Given the description of an element on the screen output the (x, y) to click on. 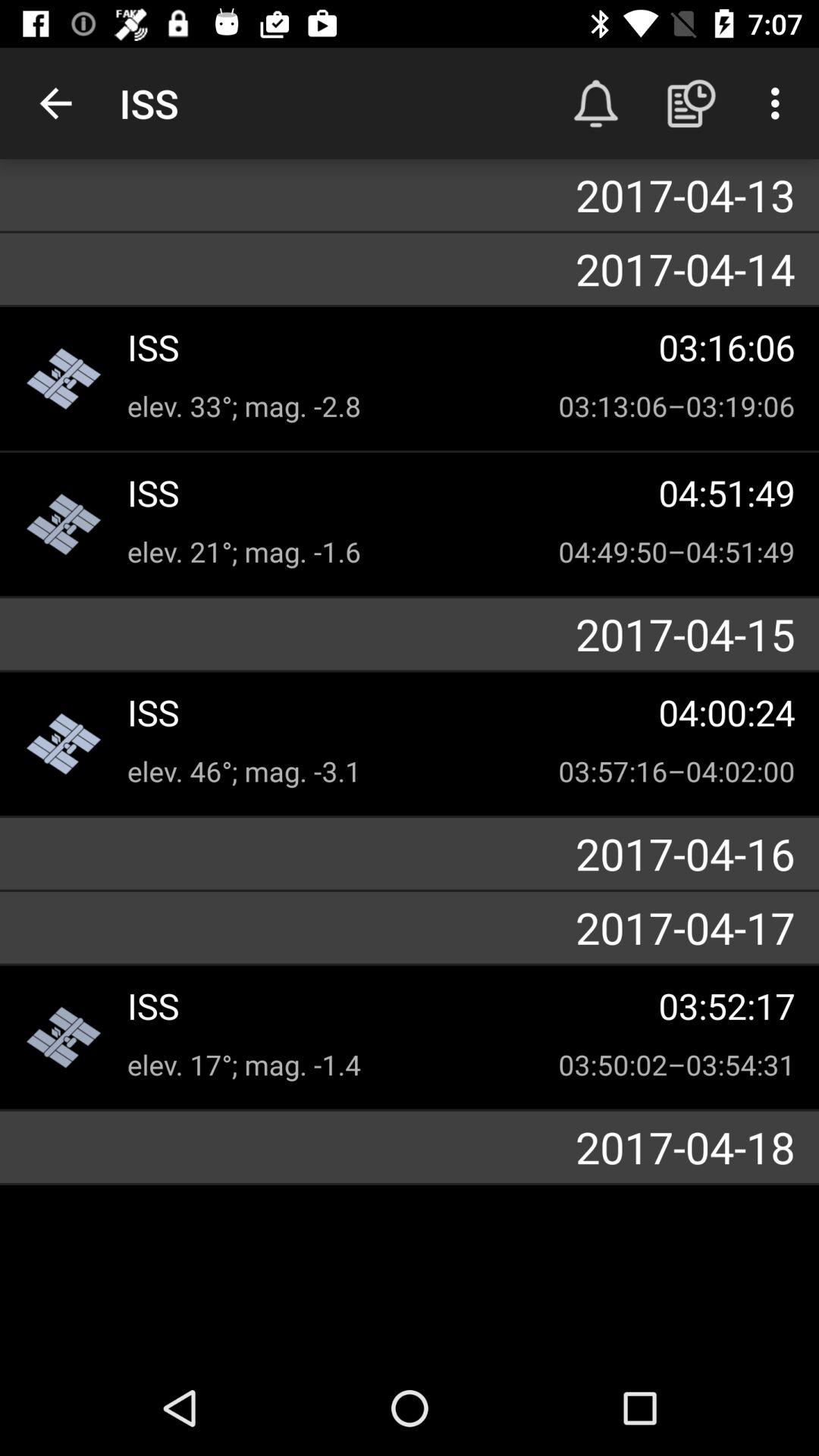
choose the icon next to iss item (595, 103)
